Given the description of an element on the screen output the (x, y) to click on. 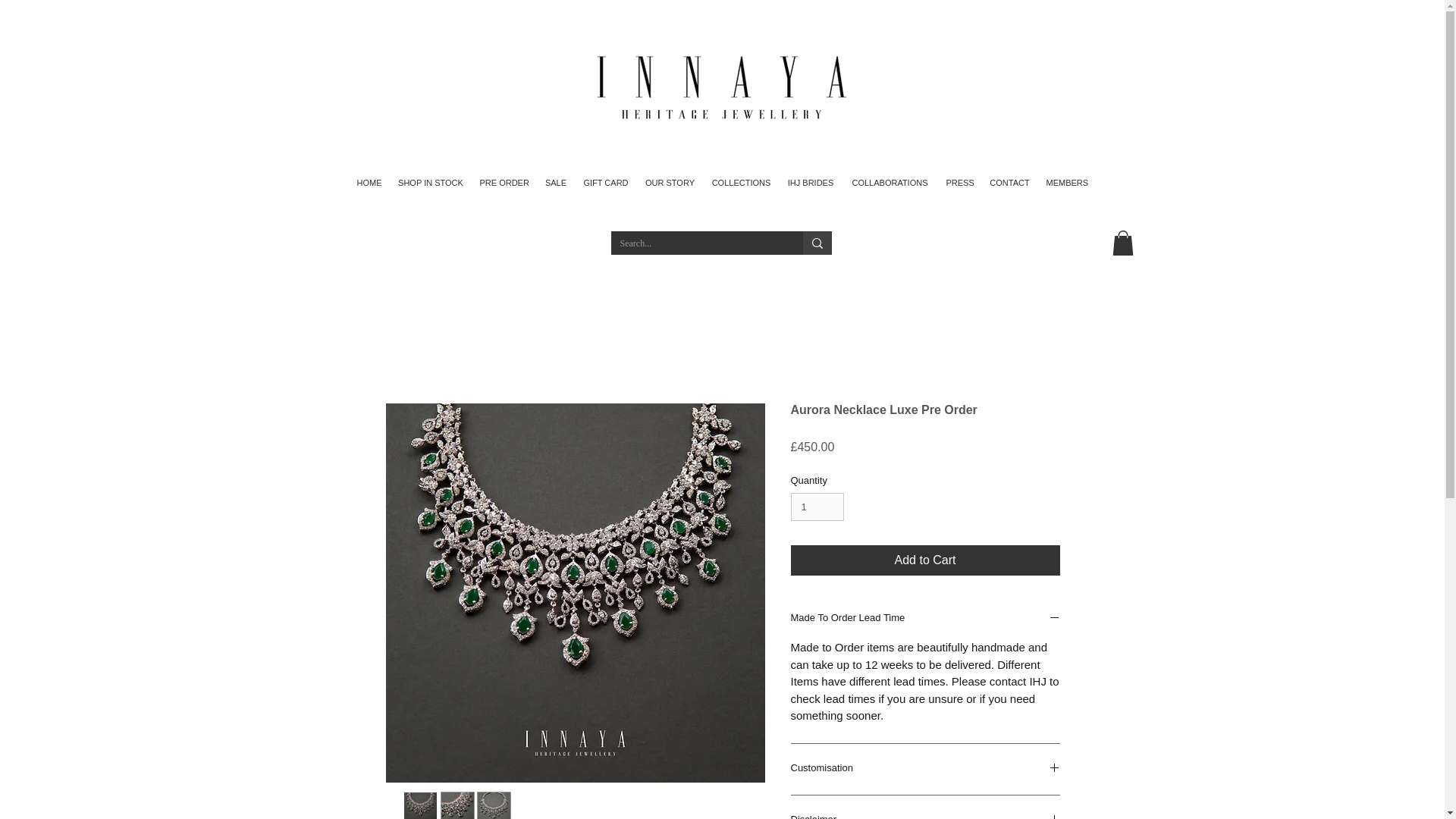
GIFT CARD (605, 182)
PRESS (960, 182)
COLLECTIONS (740, 182)
COLLABORATIONS (889, 182)
1 (817, 507)
SHOP IN STOCK (430, 182)
MEMBERS (1067, 182)
IHJ LOGO.png (721, 86)
OUR STORY (669, 182)
HOME (368, 182)
IHJ BRIDES (809, 182)
SALE (555, 182)
CONTACT (1008, 182)
PRE ORDER (503, 182)
